Given the description of an element on the screen output the (x, y) to click on. 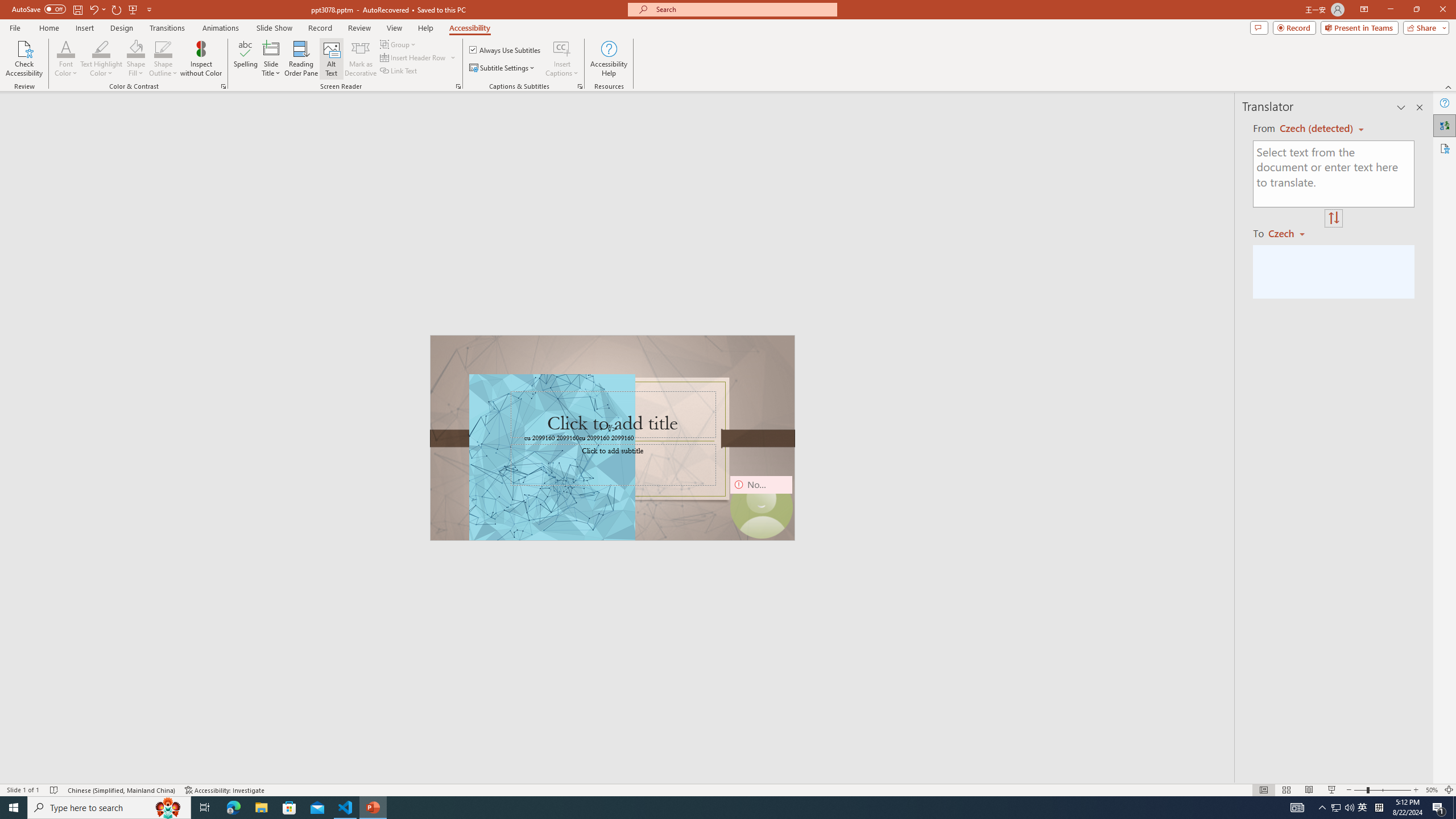
Zoom 50% (1431, 790)
Mark as Decorative (360, 58)
Captions & Subtitles (580, 85)
Inspect without Color (201, 58)
